Given the description of an element on the screen output the (x, y) to click on. 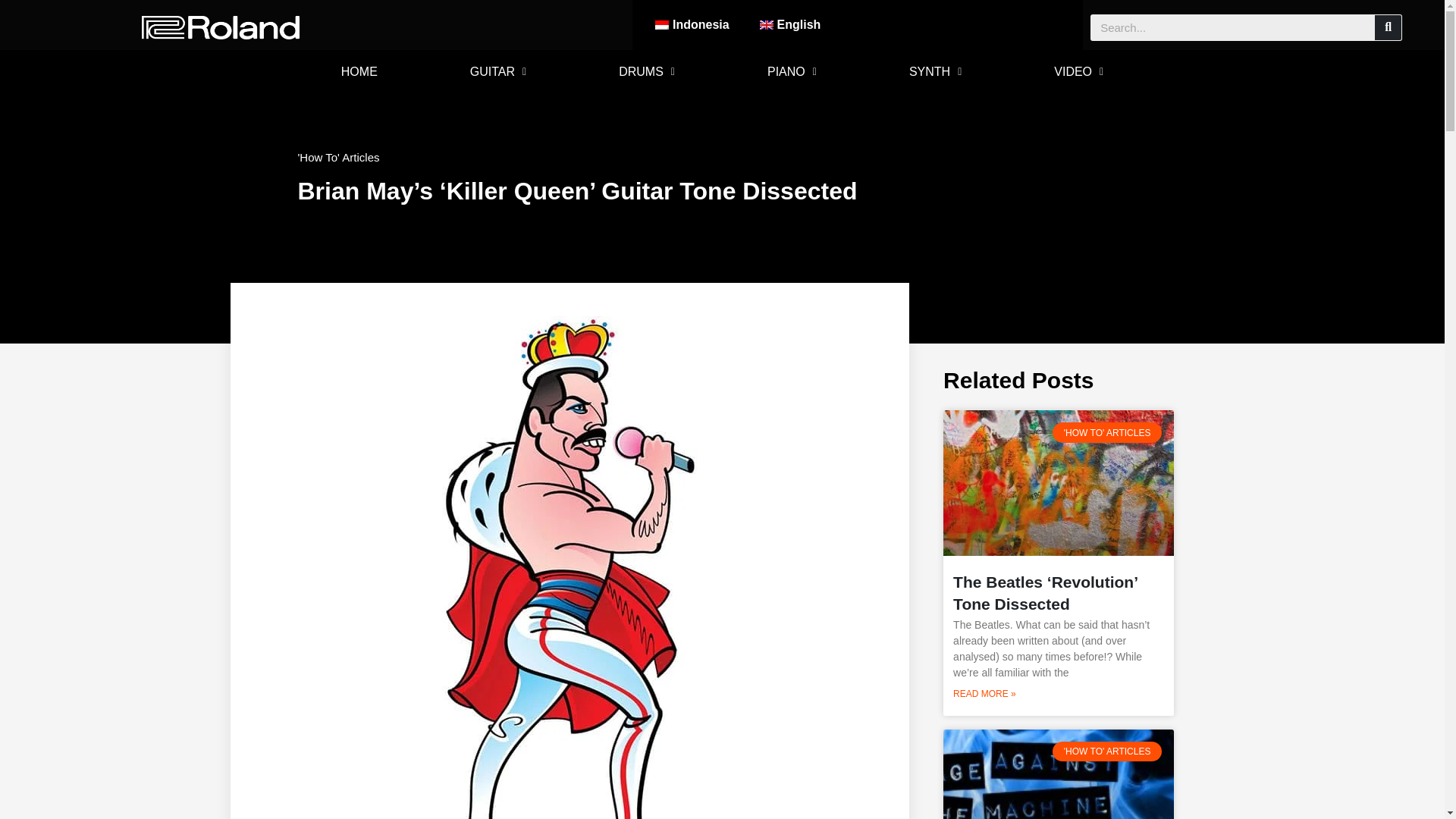
DRUMS (646, 71)
GUITAR (497, 71)
English (789, 24)
Search (1387, 27)
English (789, 24)
Indonesia (692, 24)
HOME (359, 71)
Indonesia (692, 24)
